Given the description of an element on the screen output the (x, y) to click on. 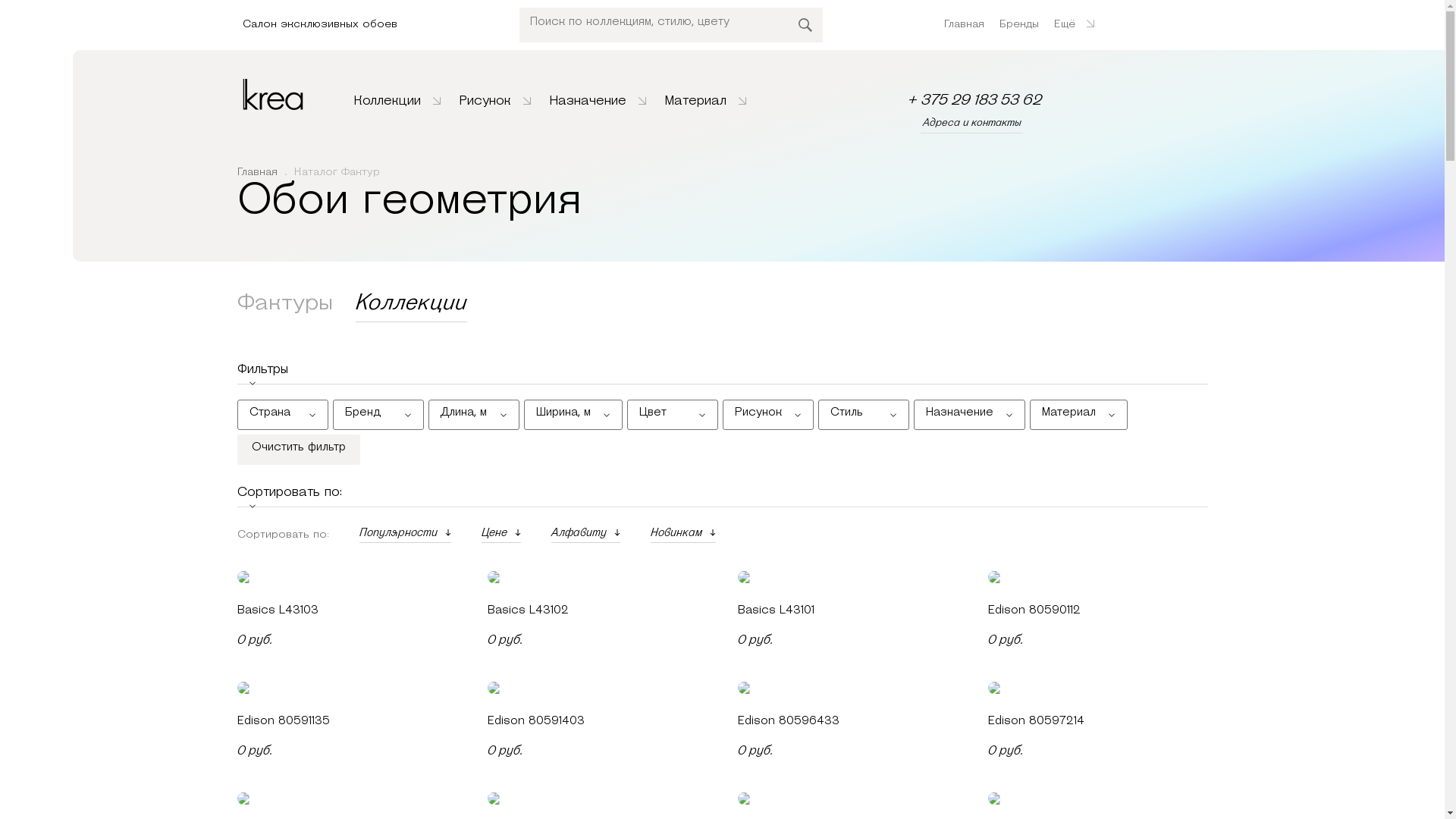
+ 375 29 183 53 62 Element type: text (974, 100)
+ 375 29 183 53 62 Element type: text (974, 99)
